Given the description of an element on the screen output the (x, y) to click on. 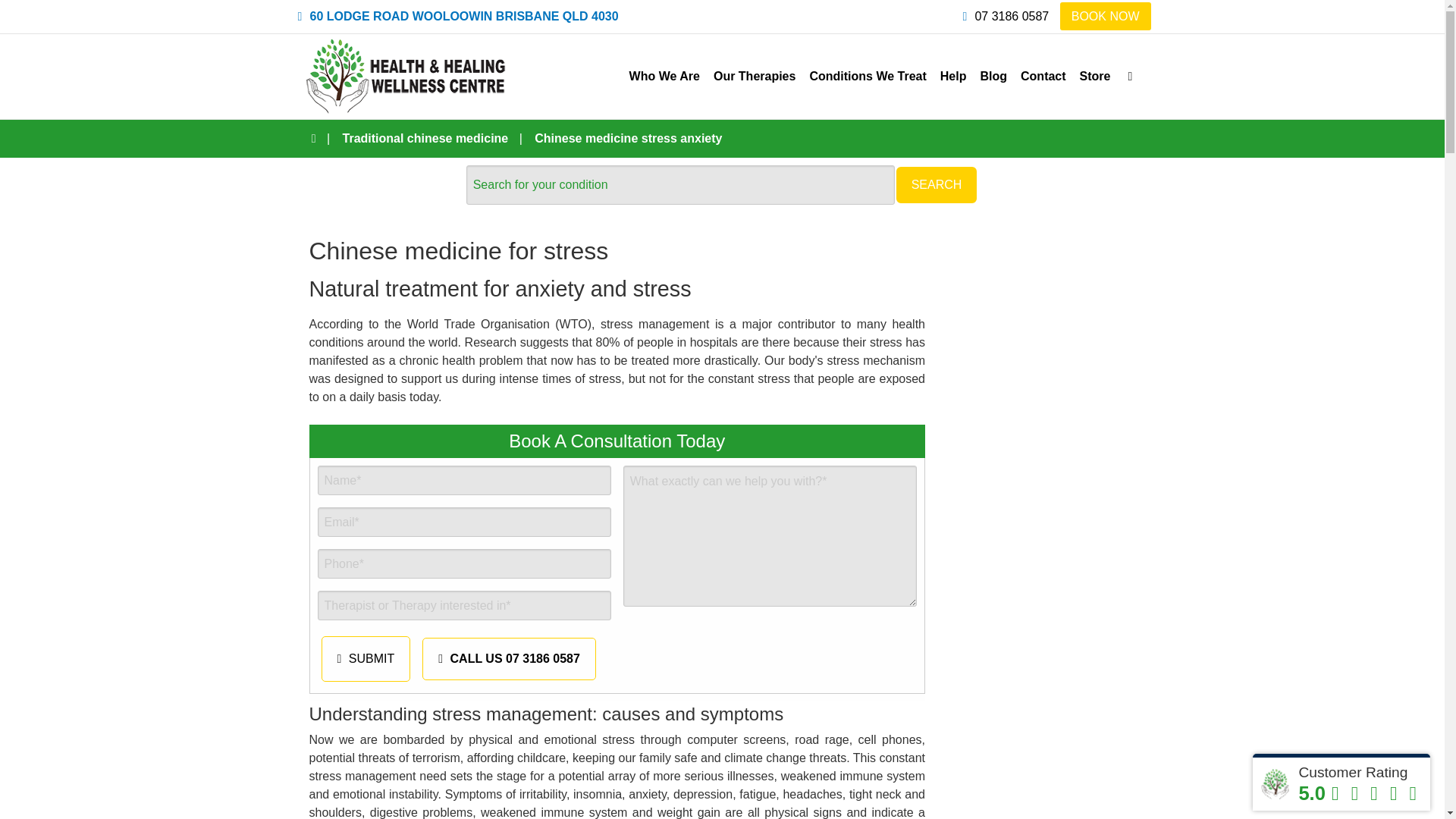
Contact (1043, 76)
Blog (992, 76)
BOOK NOW (1105, 16)
Help (953, 76)
Natural Health Products (1095, 76)
Conditions We Treat (867, 76)
Natural Health Help (953, 76)
Contact Wellness Centre (1043, 76)
Our Therapies (754, 76)
Search (1115, 58)
